Given the description of an element on the screen output the (x, y) to click on. 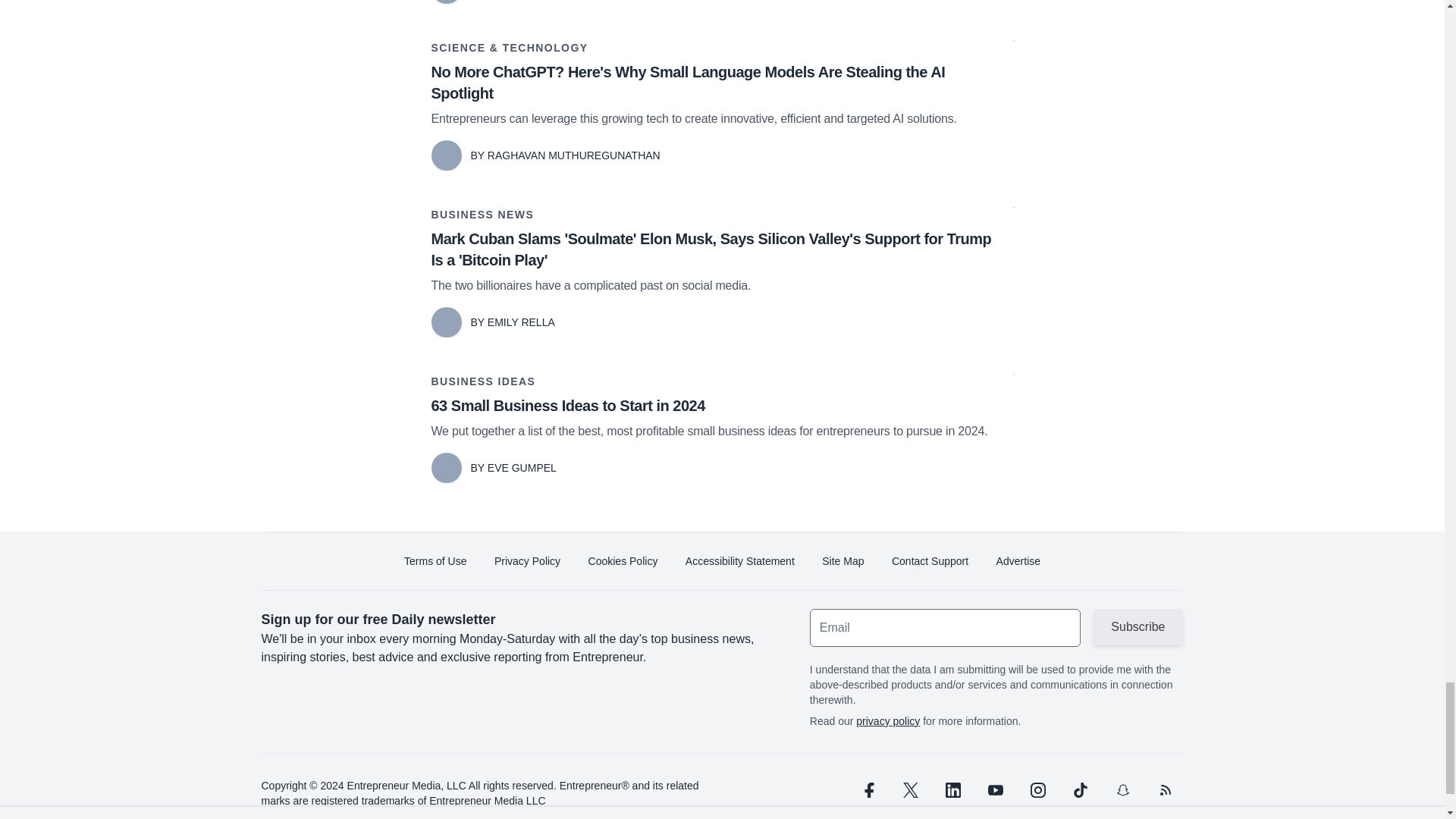
facebook (866, 790)
instagram (1037, 790)
linkedin (952, 790)
snapchat (1121, 790)
rss (1164, 790)
youtube (994, 790)
twitter (909, 790)
tiktok (1079, 790)
